Given the description of an element on the screen output the (x, y) to click on. 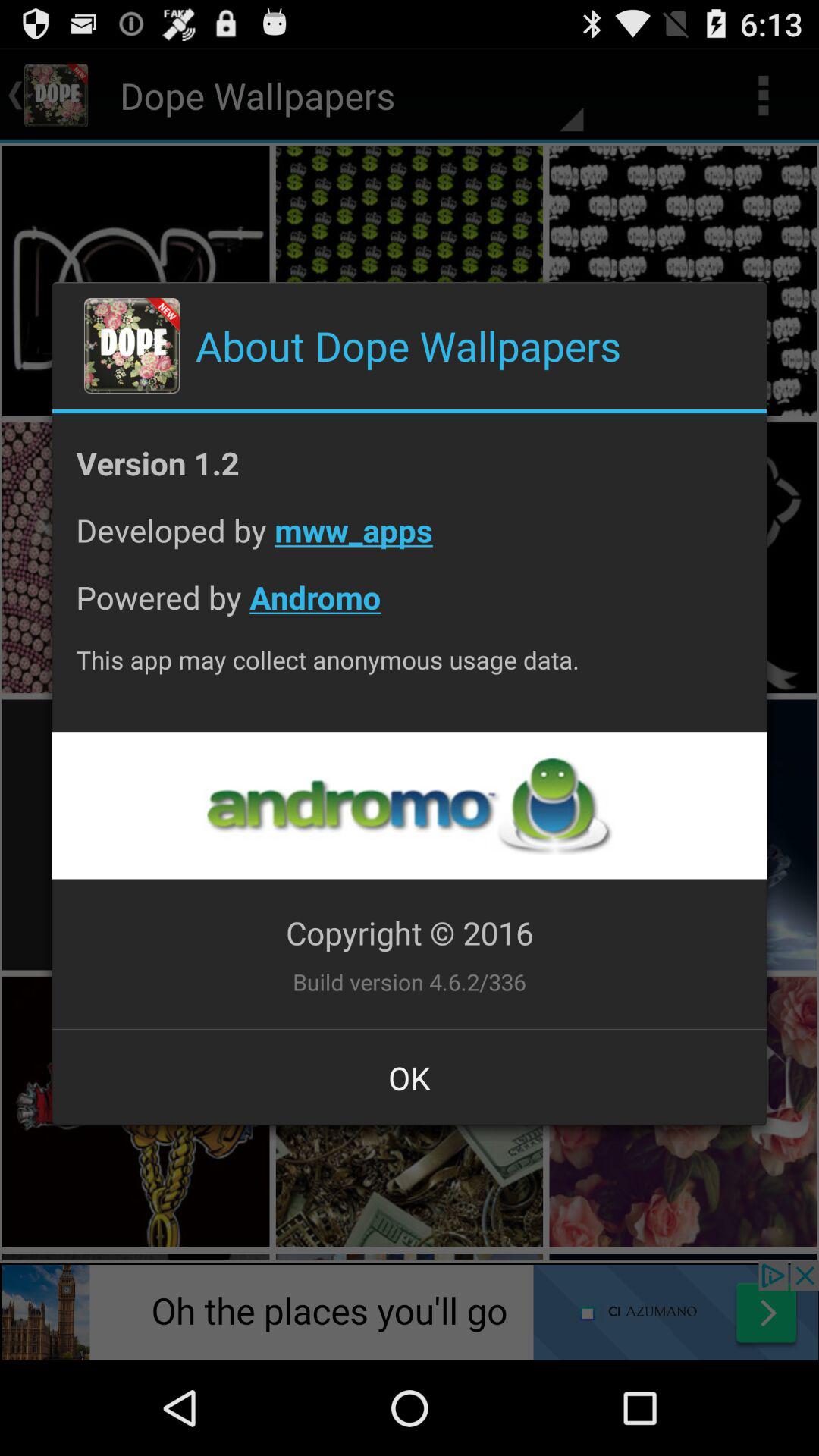
press the app below version 1.2 (409, 541)
